Given the description of an element on the screen output the (x, y) to click on. 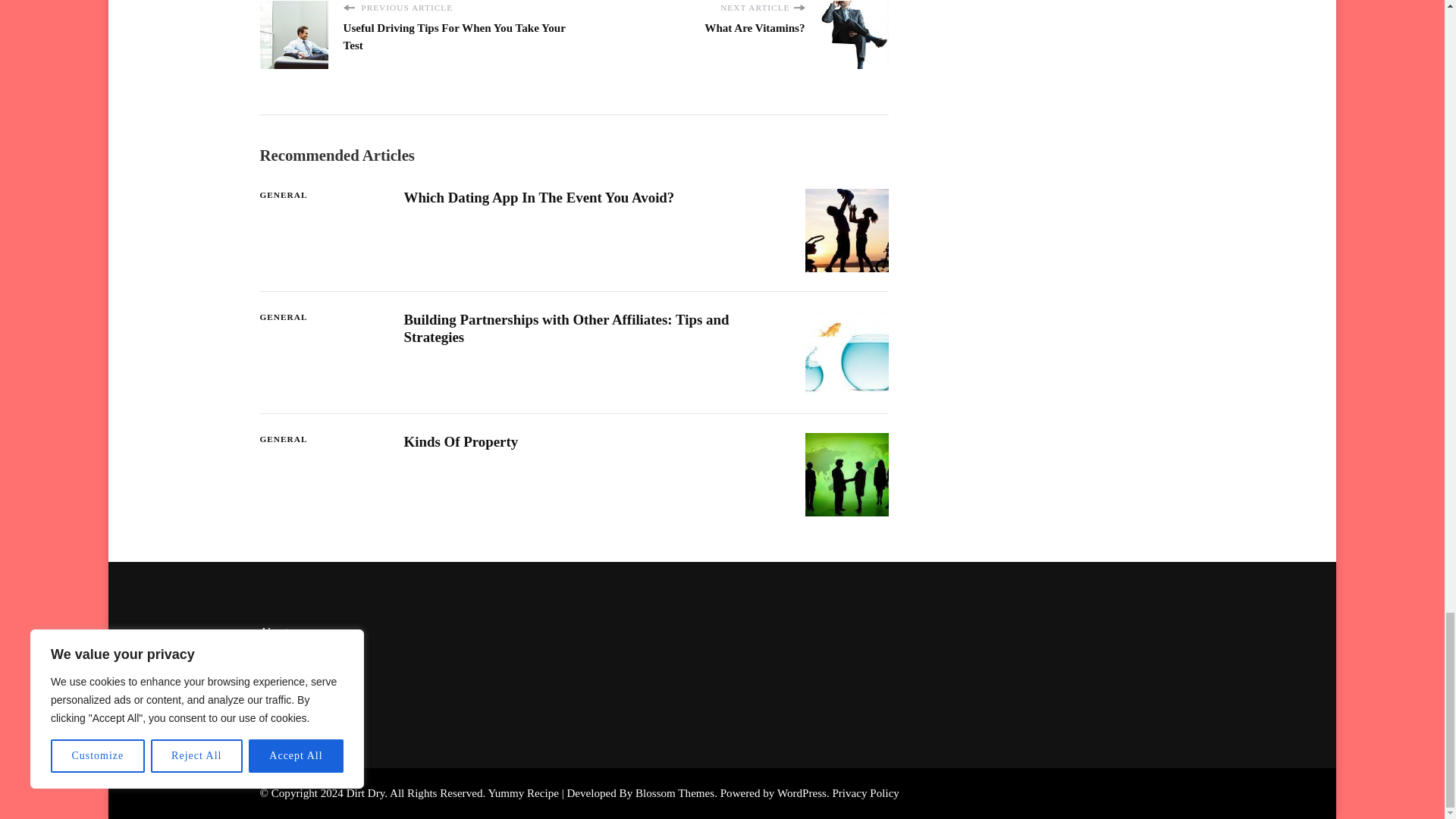
GENERAL (283, 195)
